Given the description of an element on the screen output the (x, y) to click on. 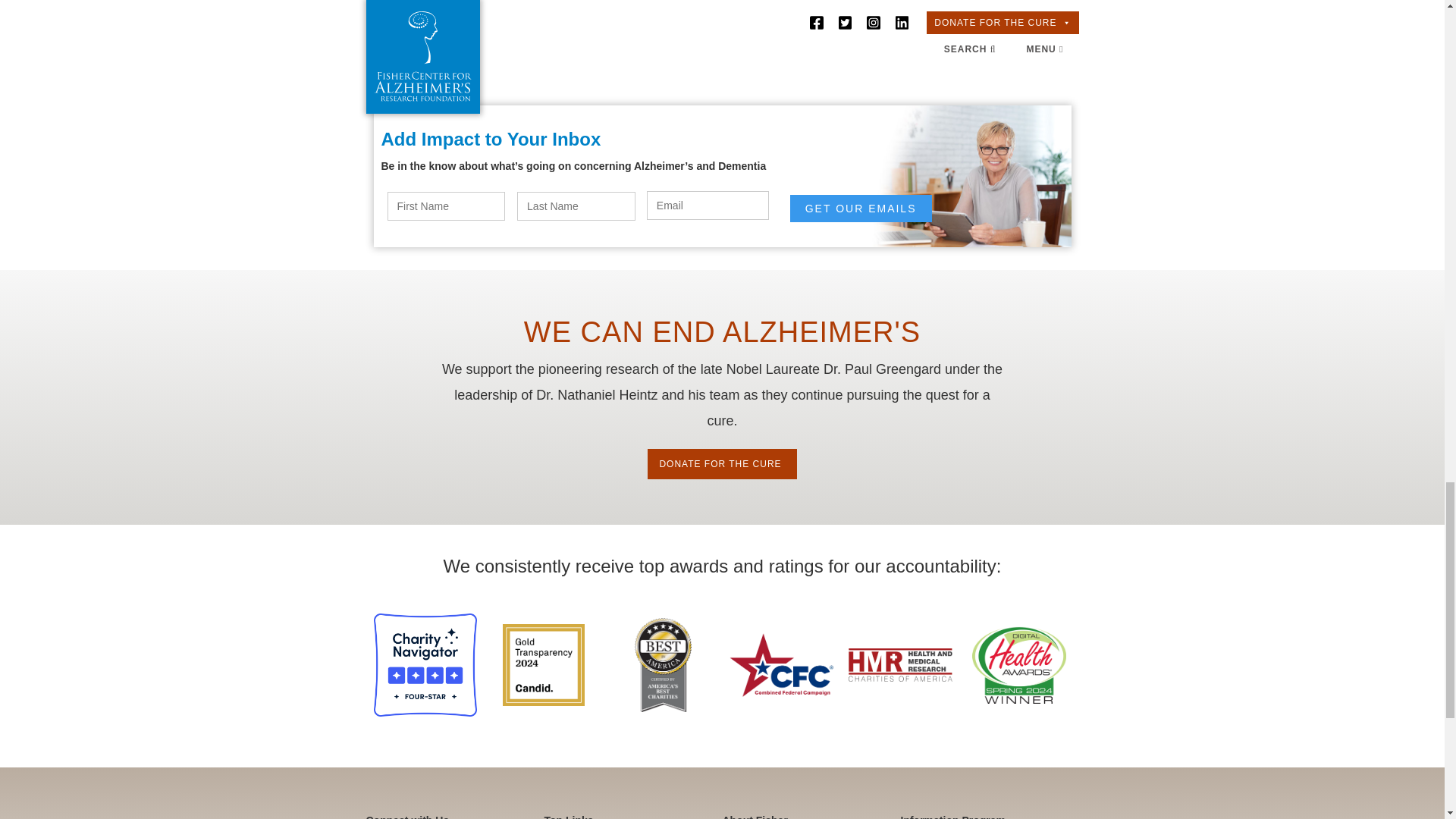
GET OUR EMAILS (860, 207)
